Given the description of an element on the screen output the (x, y) to click on. 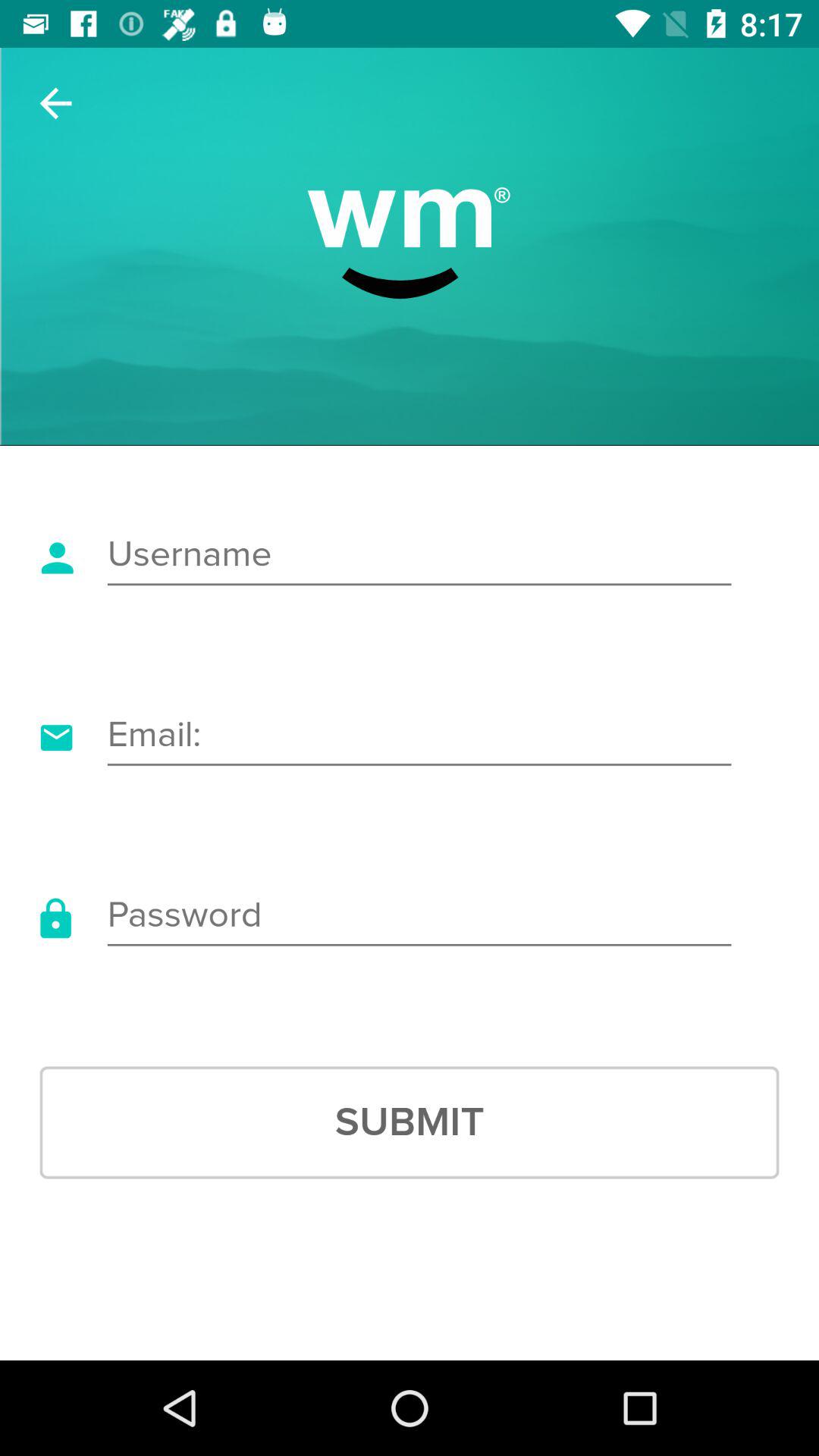
click the item at the top left corner (55, 103)
